Given the description of an element on the screen output the (x, y) to click on. 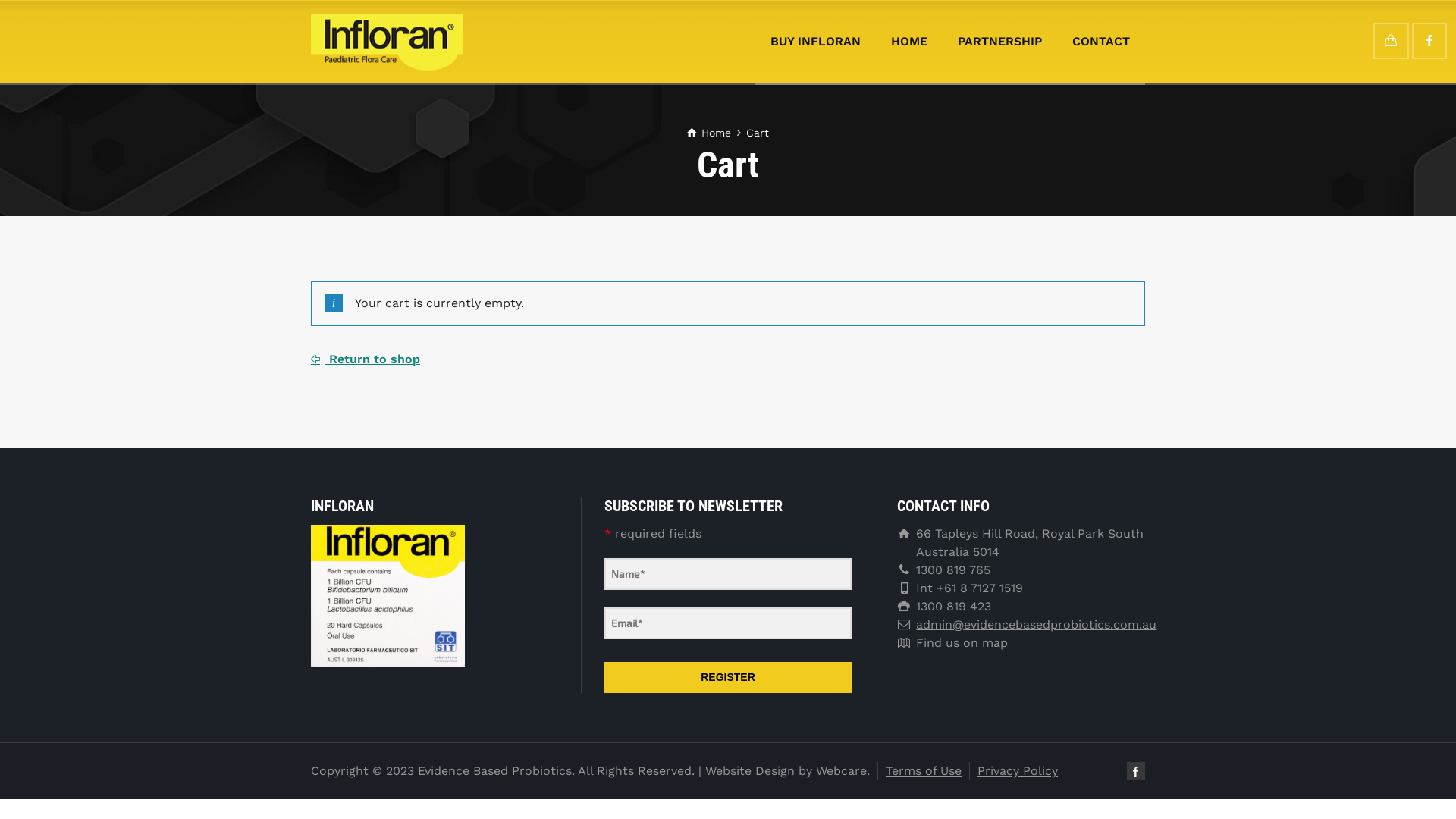
HOME Element type: text (908, 41)
REGISTER Element type: text (728, 677)
PARTNERSHIP Element type: text (999, 41)
admin@evidencebasedprobiotics.com.au Element type: text (1036, 624)
Facebook Element type: hover (1429, 40)
BUY INFLORAN Element type: text (815, 41)
Privacy Policy Element type: text (1017, 770)
Find us on map Element type: text (961, 642)
CONTACT Element type: text (1101, 41)
Facebook Element type: hover (1135, 771)
Home Element type: text (709, 132)
Return to shop Element type: text (365, 358)
Terms of Use Element type: text (923, 770)
Cart Element type: hover (1390, 40)
